Given the description of an element on the screen output the (x, y) to click on. 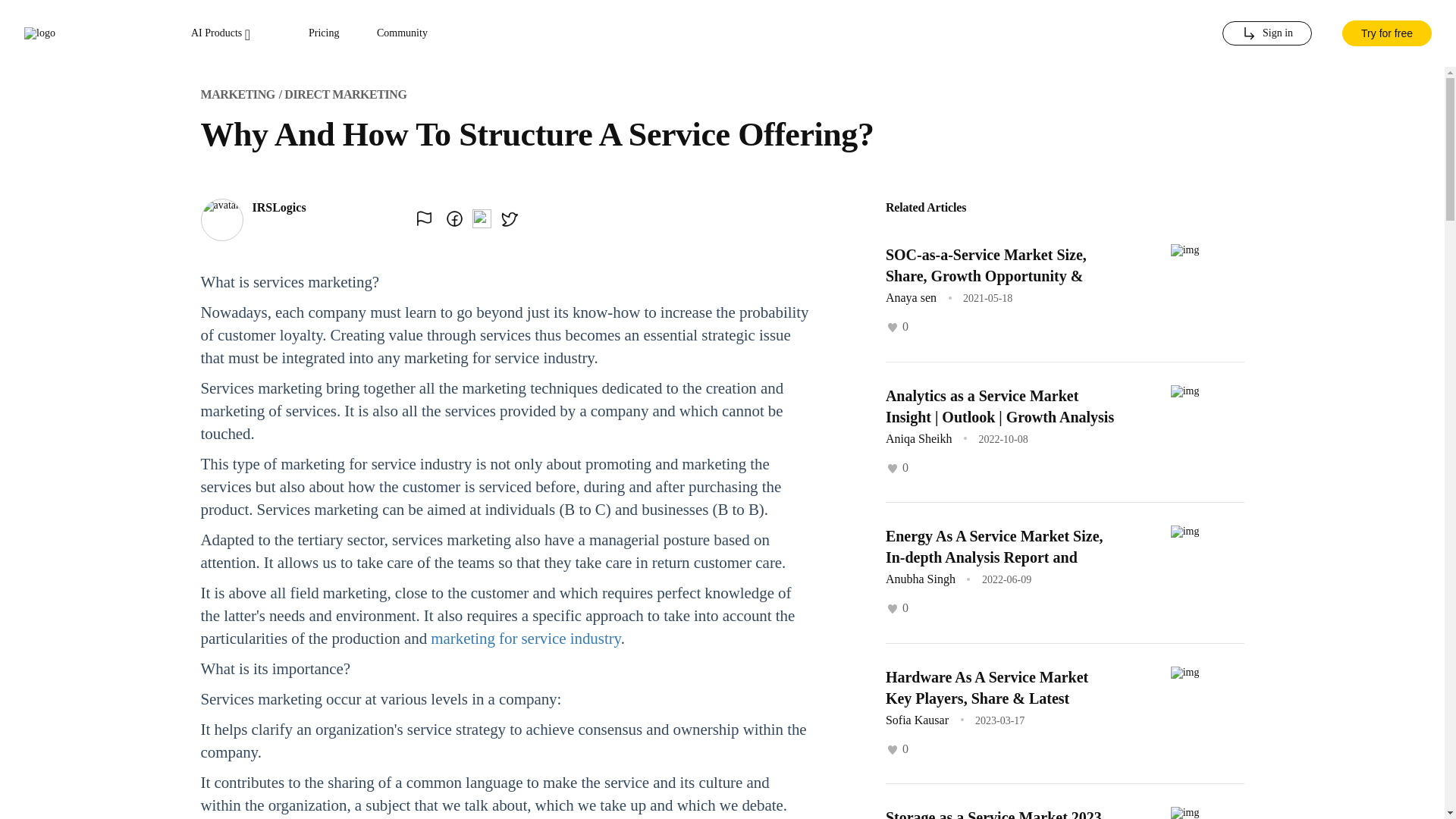
Pricing (323, 33)
Try for free (1386, 32)
 Sign in (1267, 33)
MARKETING (237, 93)
Community (402, 33)
marketing for service industry (525, 638)
DIRECT MARKETING (344, 93)
